Given the description of an element on the screen output the (x, y) to click on. 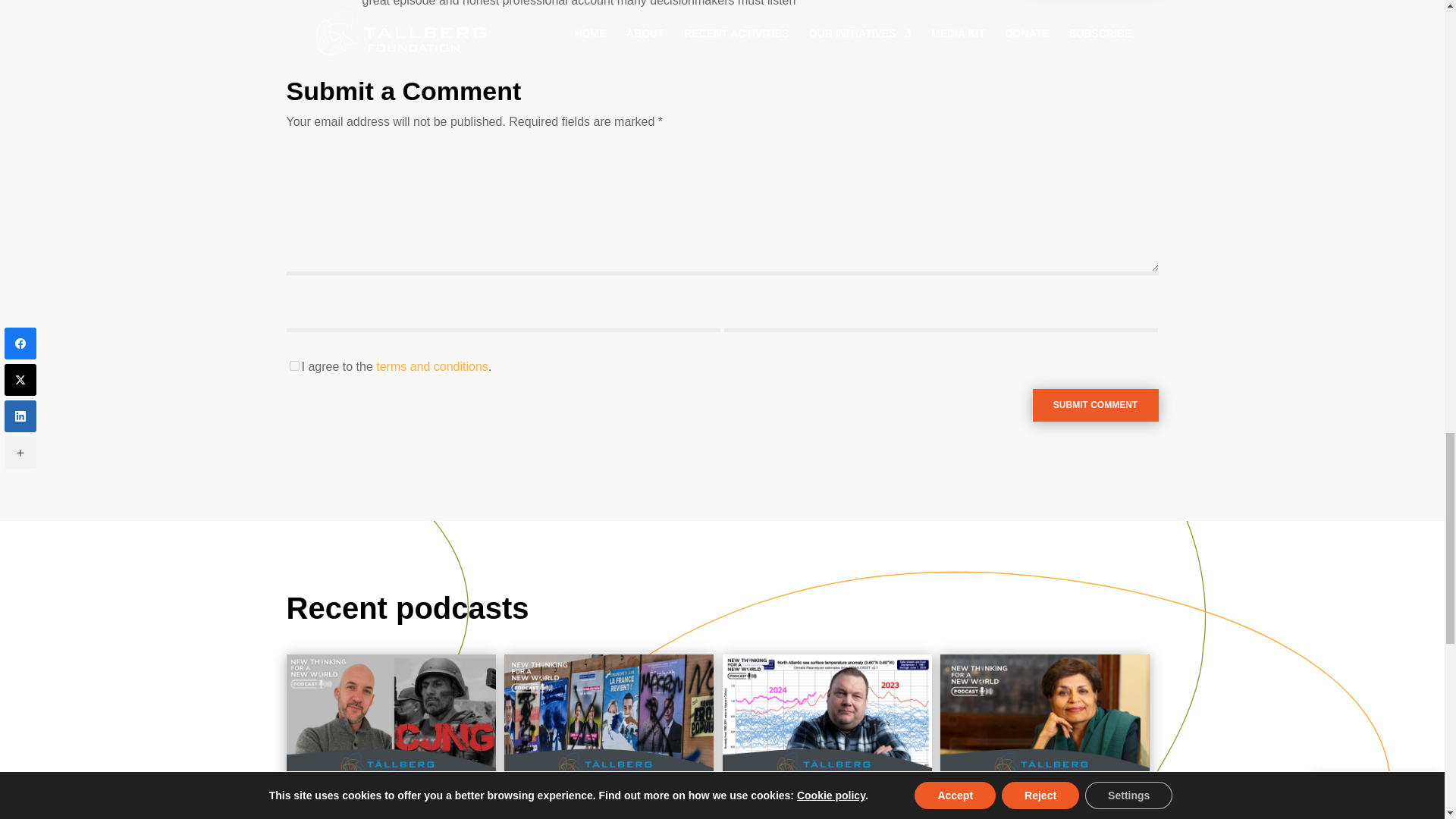
yes (294, 366)
